Given the description of an element on the screen output the (x, y) to click on. 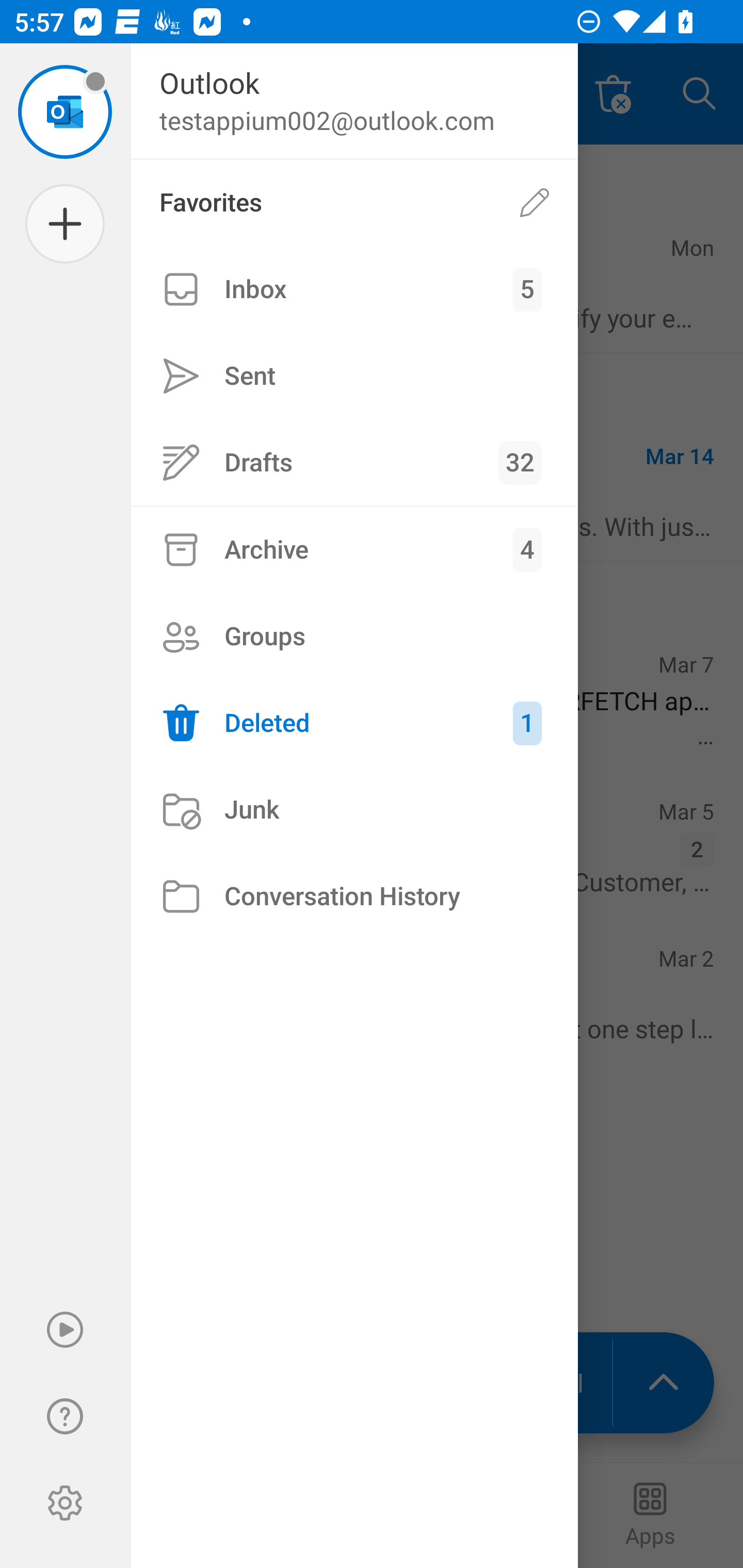
testappium002@outlook.com (64, 111)
Edit favorites (534, 202)
Add account (64, 224)
Inbox Inbox, 5 unread emails (354, 289)
Sent (354, 375)
Drafts Drafts, 32 unread emails (354, 462)
Archive Archive, 2 of 6, level 1, 4 unread emails (354, 549)
Groups Groups, 3 of 6, level 1 (354, 636)
Junk Junk, 5 of 6, level 1 (354, 809)
Play My Emails (64, 1329)
Help (64, 1416)
Settings (64, 1502)
